Given the description of an element on the screen output the (x, y) to click on. 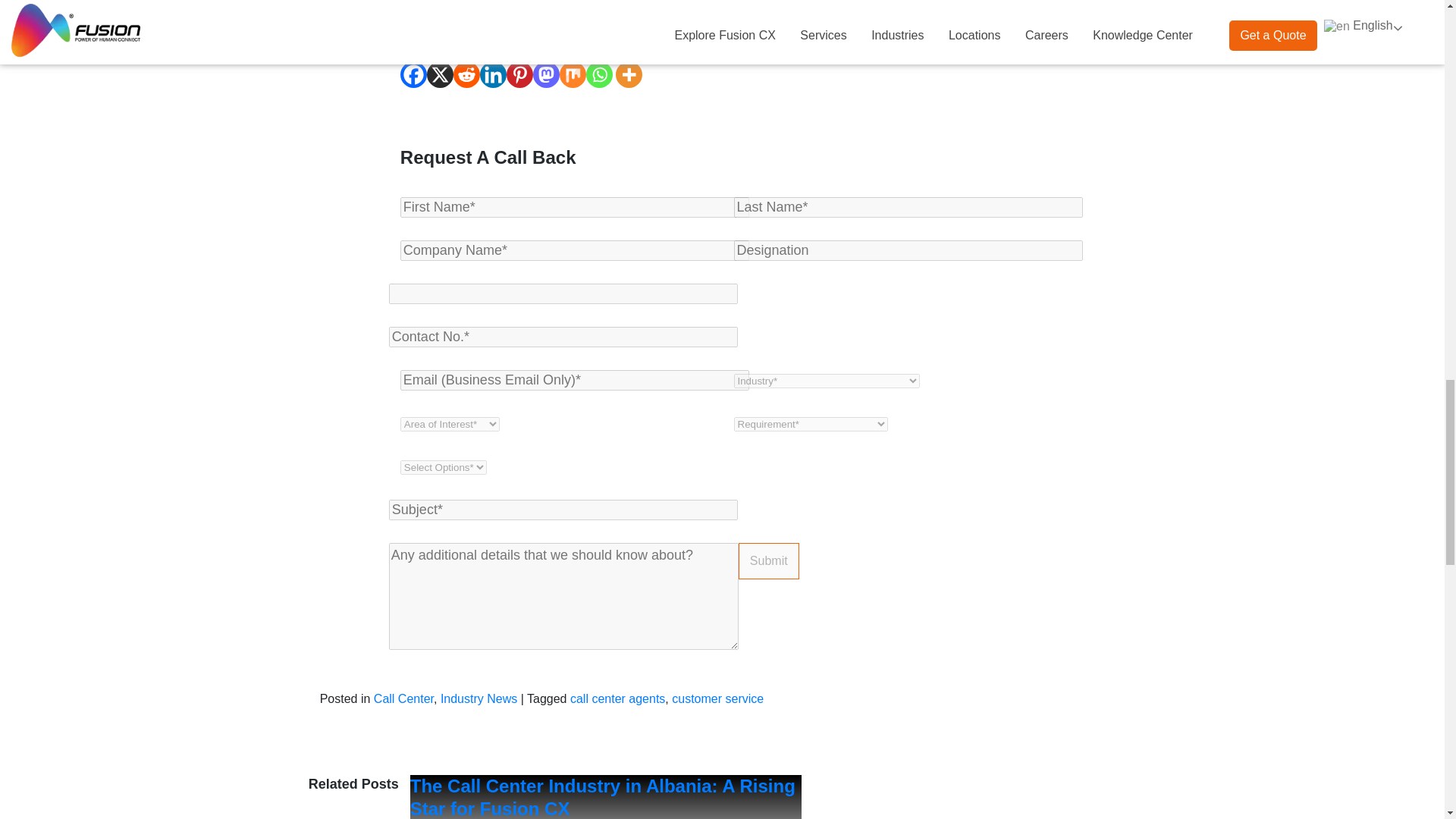
Facebook (413, 74)
Whatsapp (599, 74)
Linkedin (493, 74)
More (628, 74)
Pinterest (519, 74)
Reddit (466, 74)
X (439, 74)
Mastodon (545, 74)
Mix (572, 74)
